Given the description of an element on the screen output the (x, y) to click on. 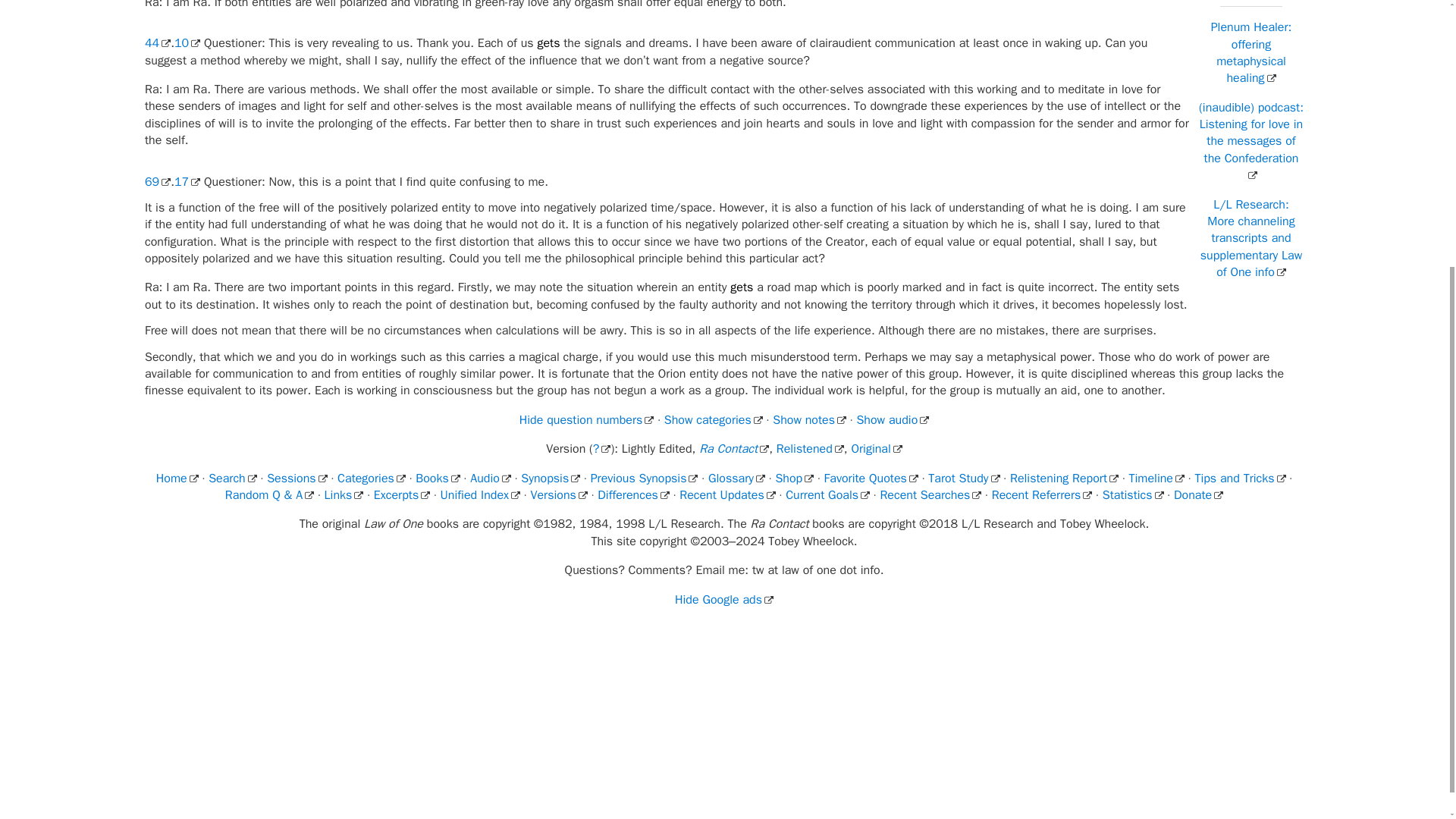
Show categories (712, 419)
Hide question numbers (586, 419)
Search (232, 478)
Home (176, 478)
44 (157, 43)
? (601, 448)
Show notes (809, 419)
Show audio (892, 419)
Ra Contact (733, 448)
10 (187, 43)
Relistened (810, 448)
17 (187, 181)
69 (157, 181)
Original (875, 448)
